Given the description of an element on the screen output the (x, y) to click on. 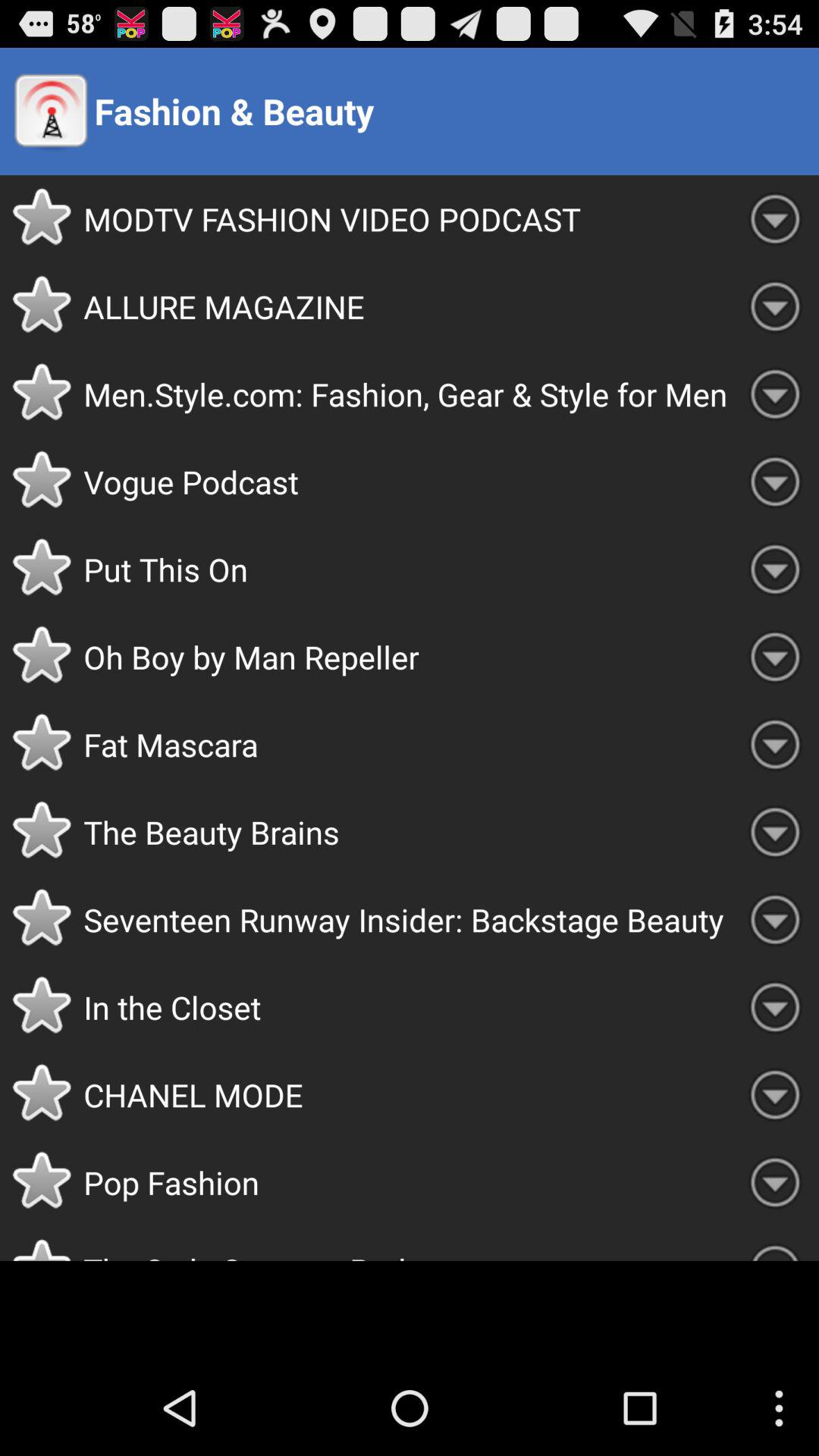
open icon below the seventeen runway insider icon (407, 1007)
